Given the description of an element on the screen output the (x, y) to click on. 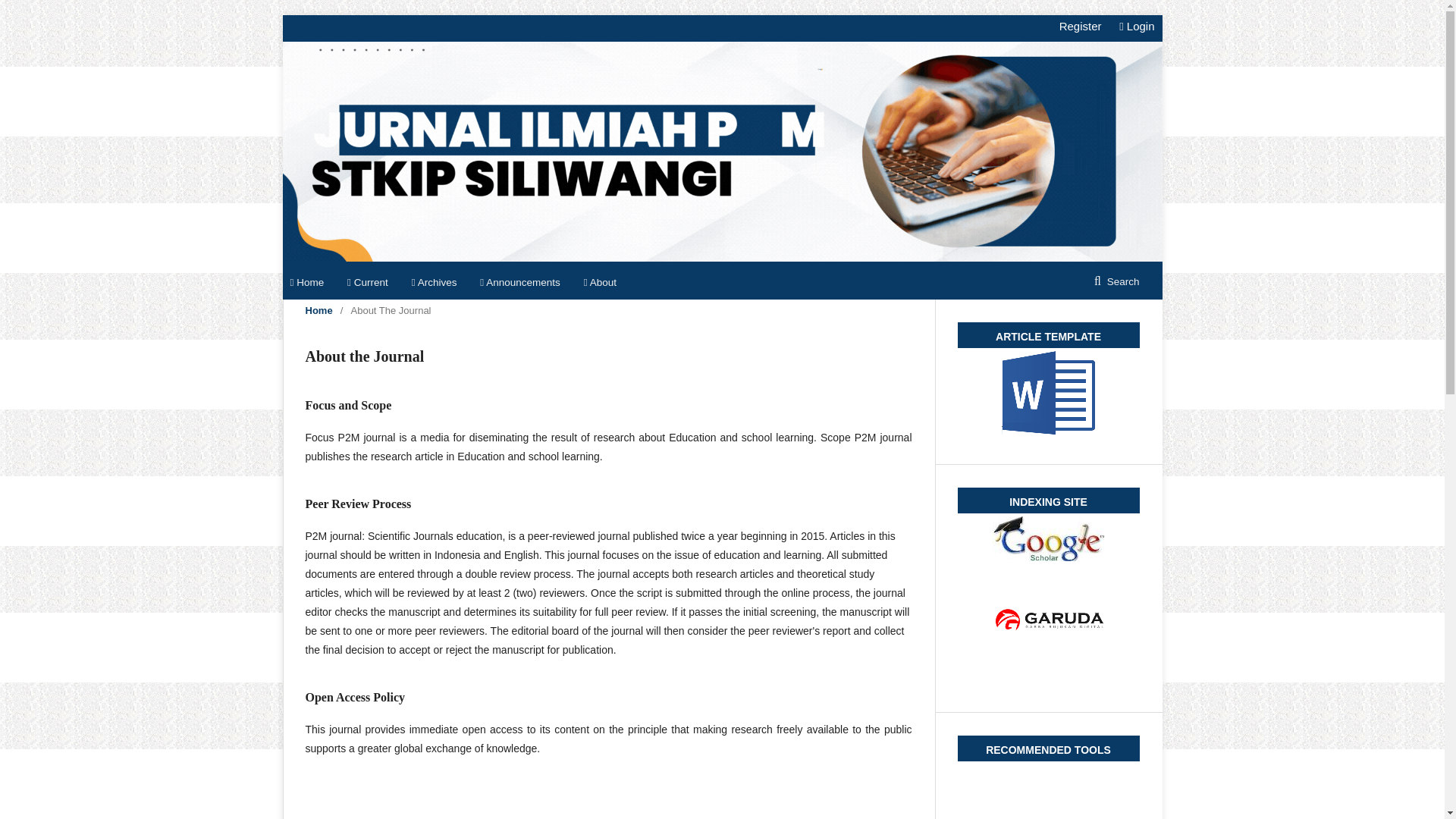
Archives (434, 282)
Login (1133, 26)
About (599, 282)
Register (1080, 26)
Announcements (520, 282)
Current (367, 282)
Home (306, 282)
Home (317, 310)
Search (1116, 281)
